Given the description of an element on the screen output the (x, y) to click on. 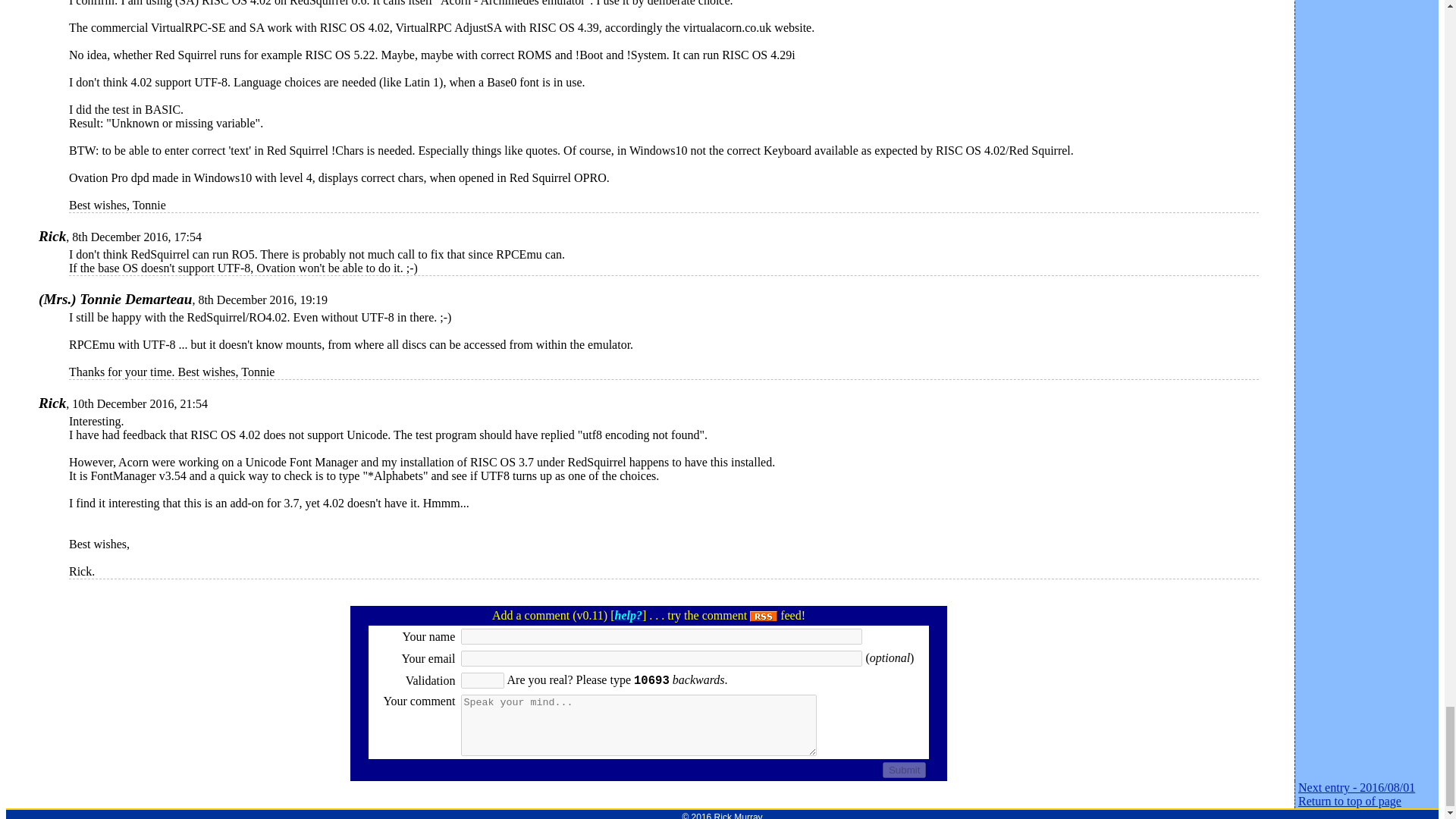
Submit (904, 770)
help? (628, 615)
Submit (904, 770)
